Given the description of an element on the screen output the (x, y) to click on. 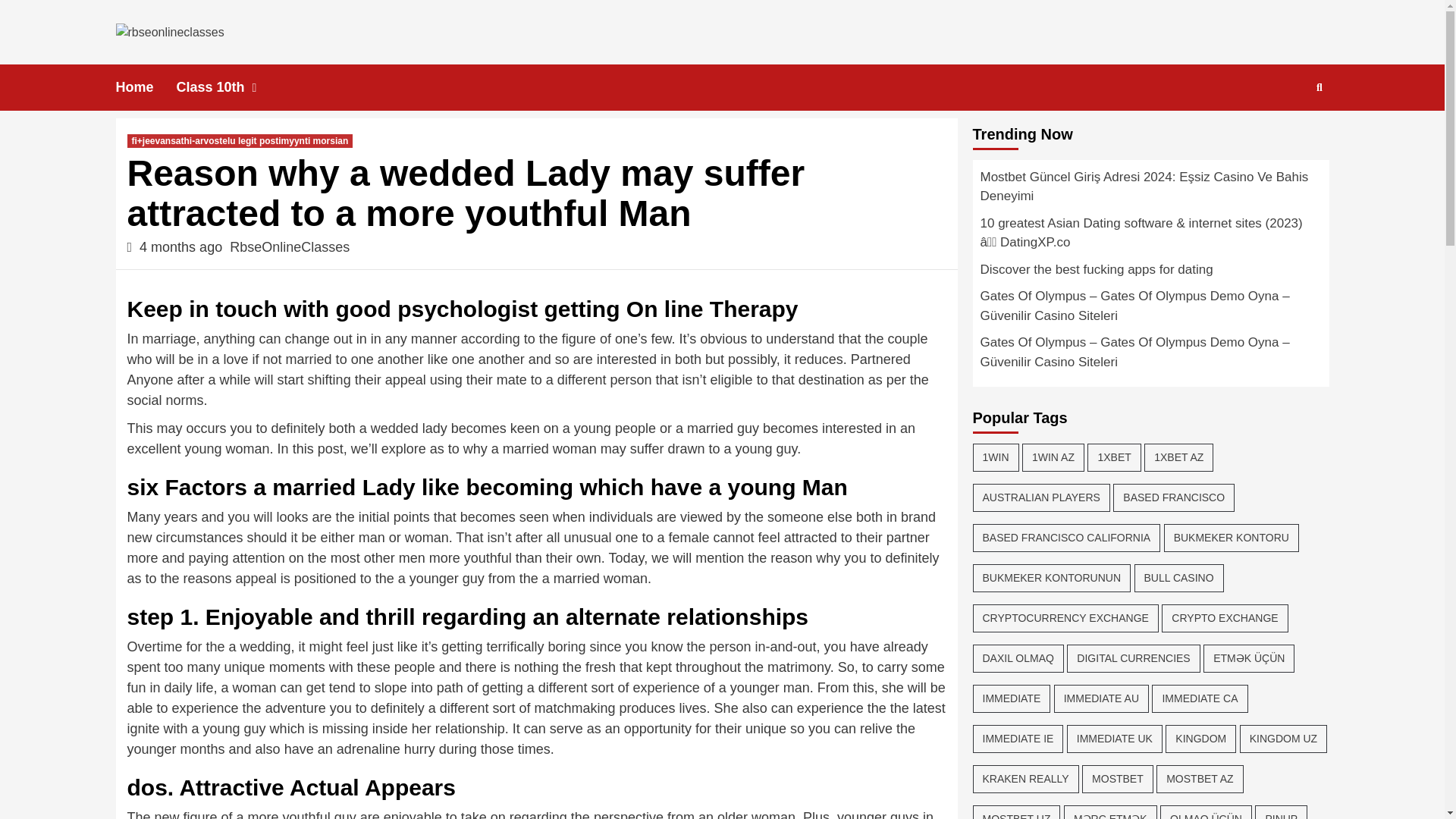
Search (1283, 134)
IMMEDIATE AU (1101, 698)
1WIN AZ (1053, 457)
BUKMEKER KONTORUNUN (1051, 578)
CRYPTOCURRENCY EXCHANGE (1064, 618)
RbseOnlineClasses (289, 246)
Search (1319, 86)
1XBET (1113, 457)
DAXIL OLMAQ (1017, 658)
IMMEDIATE CA (1199, 698)
BULL CASINO (1179, 578)
BASED FRANCISCO (1173, 497)
Class 10th (231, 87)
BUKMEKER KONTORU (1230, 538)
IMMEDIATE (1010, 698)
